Given the description of an element on the screen output the (x, y) to click on. 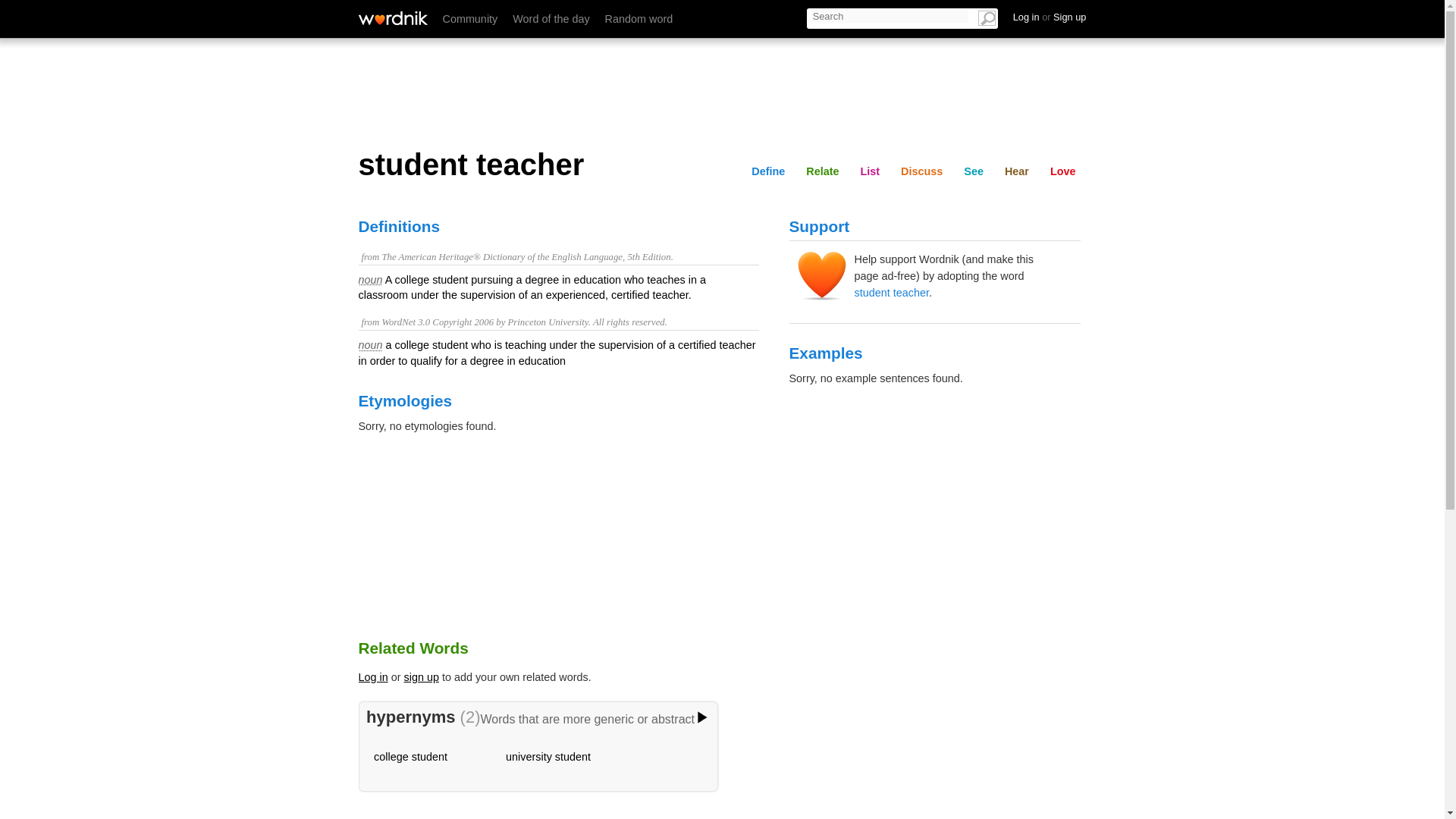
See (974, 171)
Wordnik Online Dictionary (392, 18)
Random word (638, 19)
3rd party ad content (721, 90)
3rd party ad content (934, 508)
Hear (1016, 171)
partOfSpeech (369, 279)
Discuss (961, 16)
Log in or Sign Up (1049, 16)
Word of the day (550, 19)
